Given the description of an element on the screen output the (x, y) to click on. 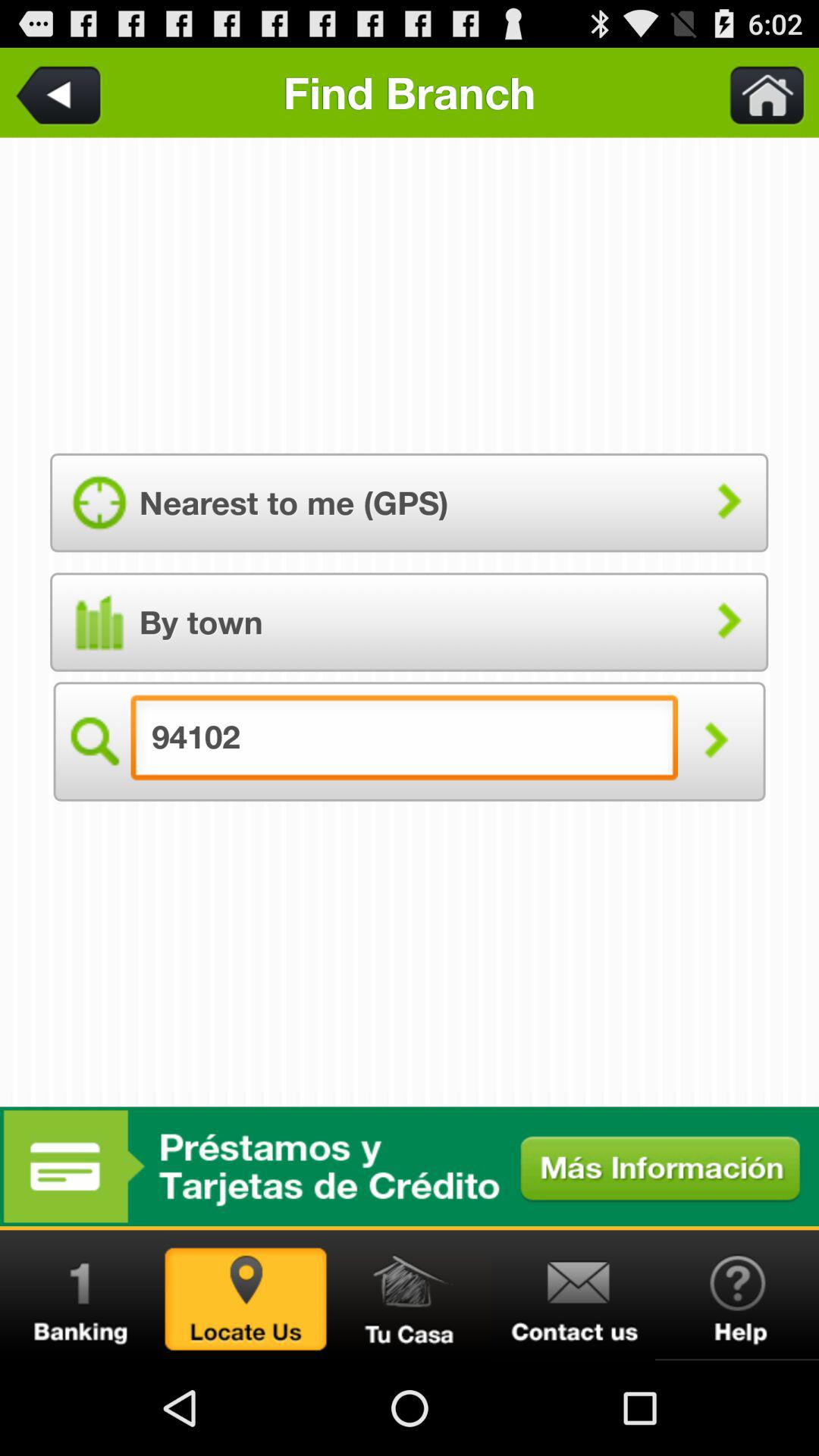
email app developer link (573, 1295)
